Given the description of an element on the screen output the (x, y) to click on. 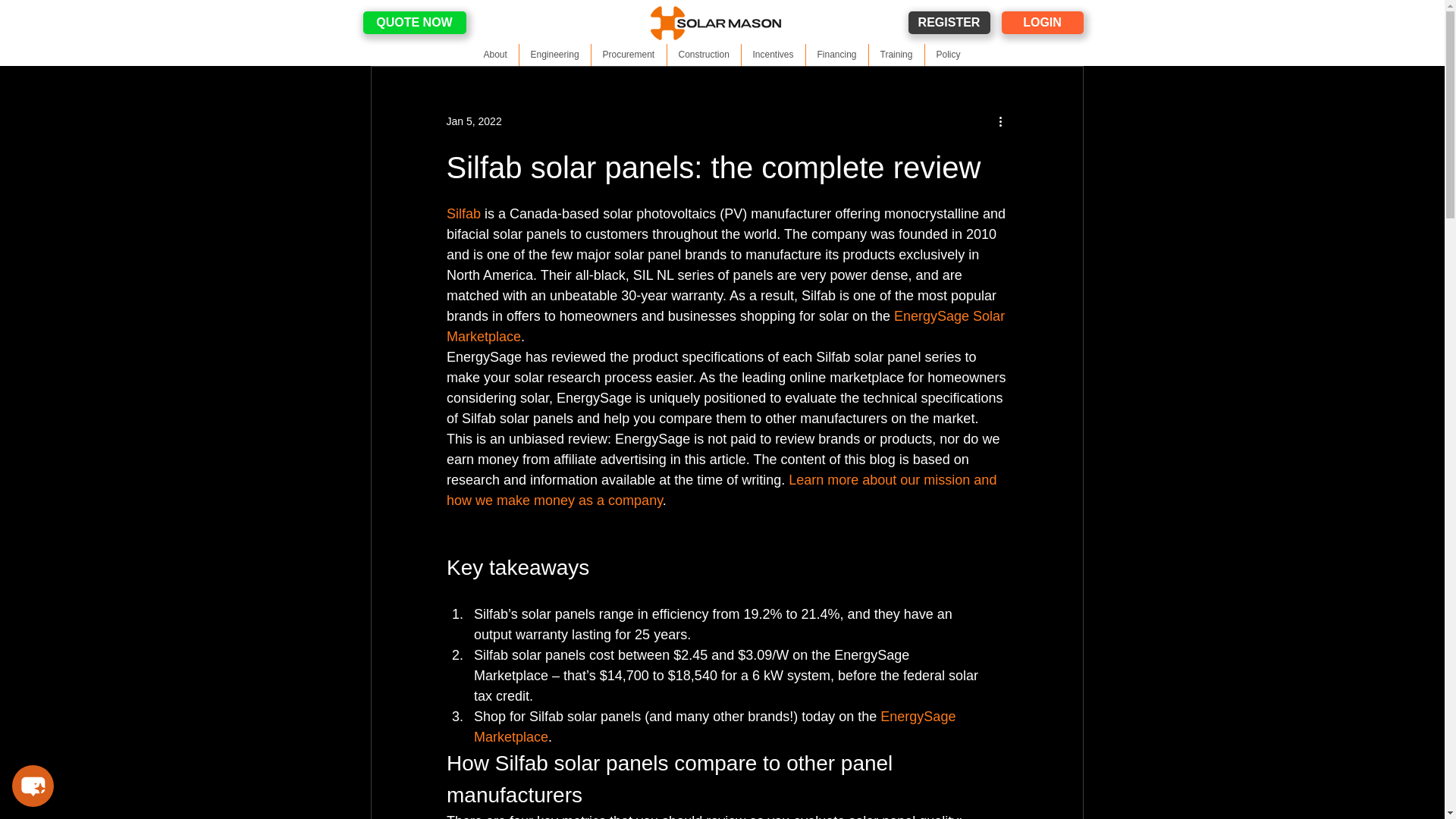
QUOTE NOW (413, 22)
Jan 5, 2022 (472, 121)
LOGIN (1042, 22)
REGISTER (949, 22)
